Given the description of an element on the screen output the (x, y) to click on. 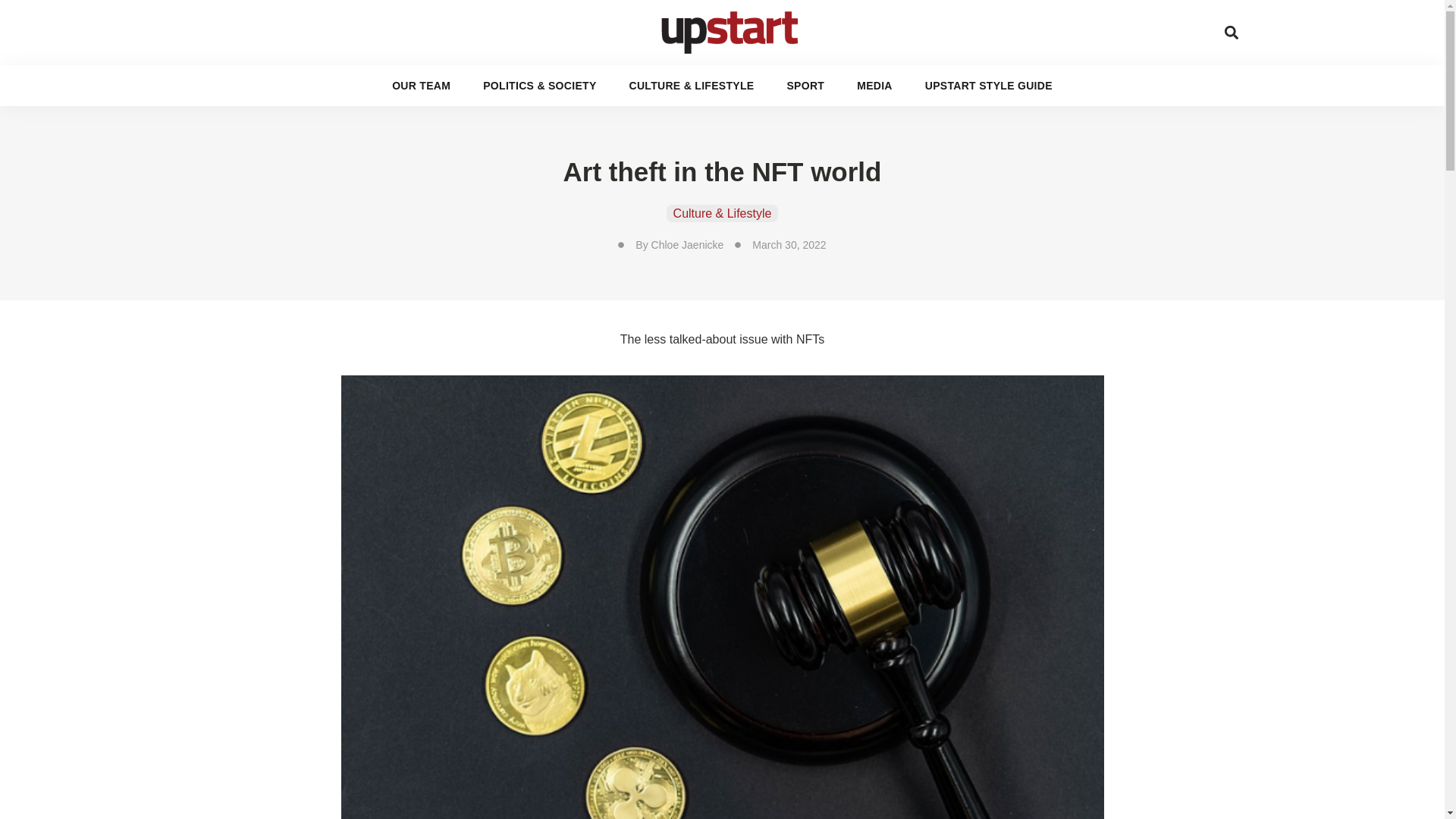
OUR TEAM (420, 86)
OUR TEAM (439, 24)
UPSTART STYLE GUIDE (1032, 24)
SPORT (805, 86)
MEDIA (913, 24)
SPORT (840, 24)
UPSTART STYLE GUIDE (988, 86)
MEDIA (874, 86)
